Given the description of an element on the screen output the (x, y) to click on. 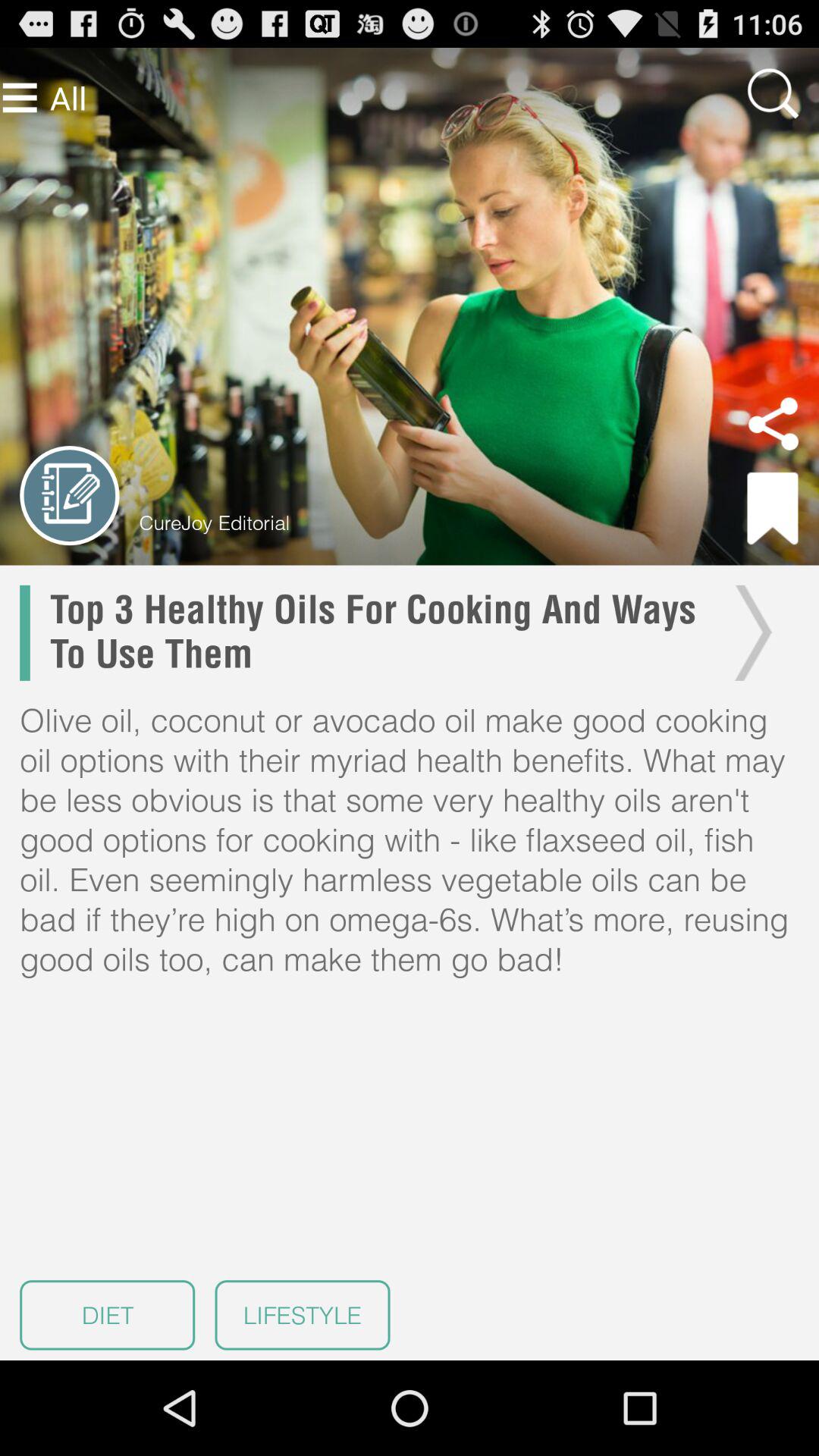
go to next (749, 632)
